Given the description of an element on the screen output the (x, y) to click on. 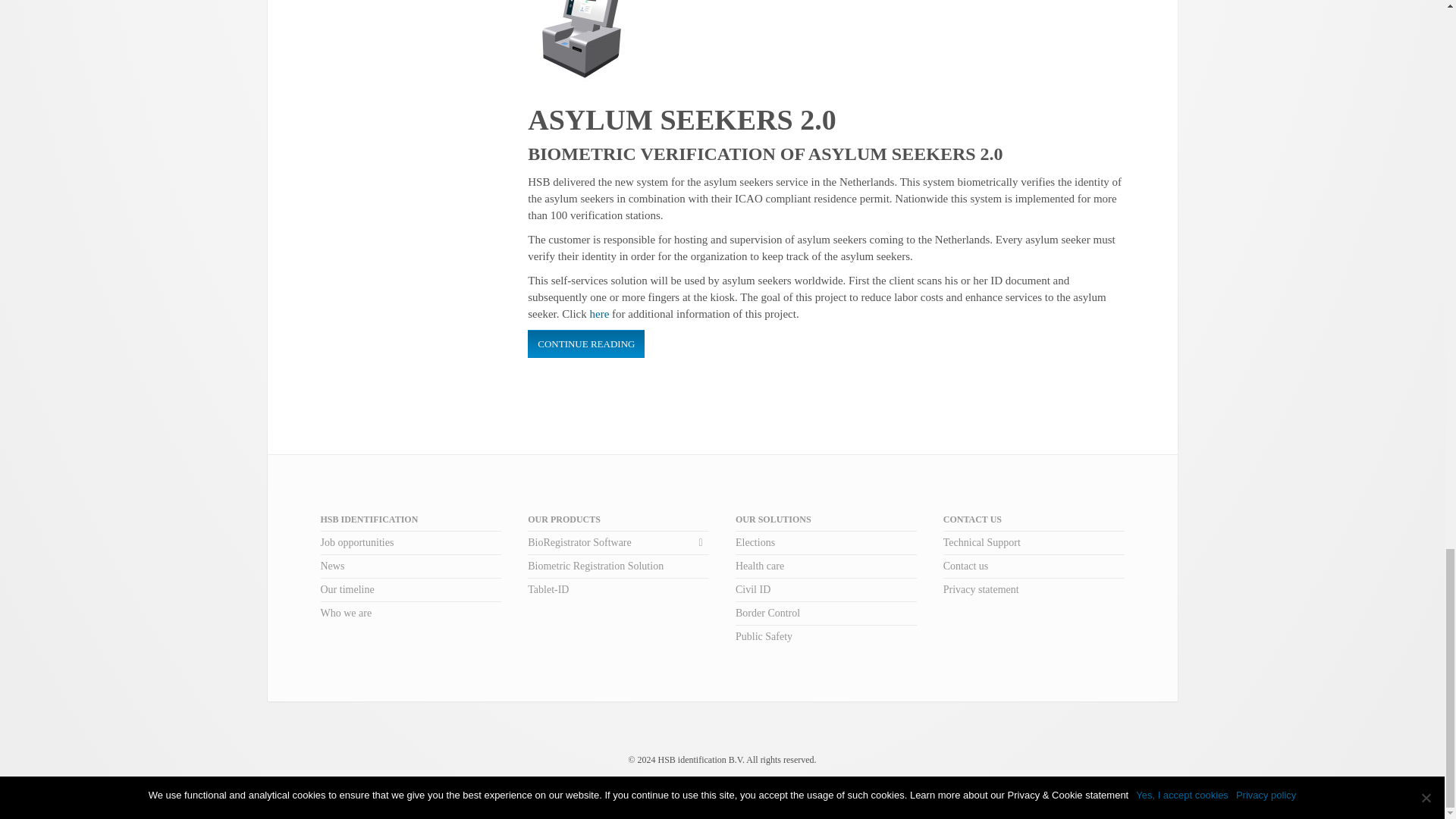
Asylum Seekers 2.0 (584, 24)
Asylum Seekers 2.0 (681, 119)
